Given the description of an element on the screen output the (x, y) to click on. 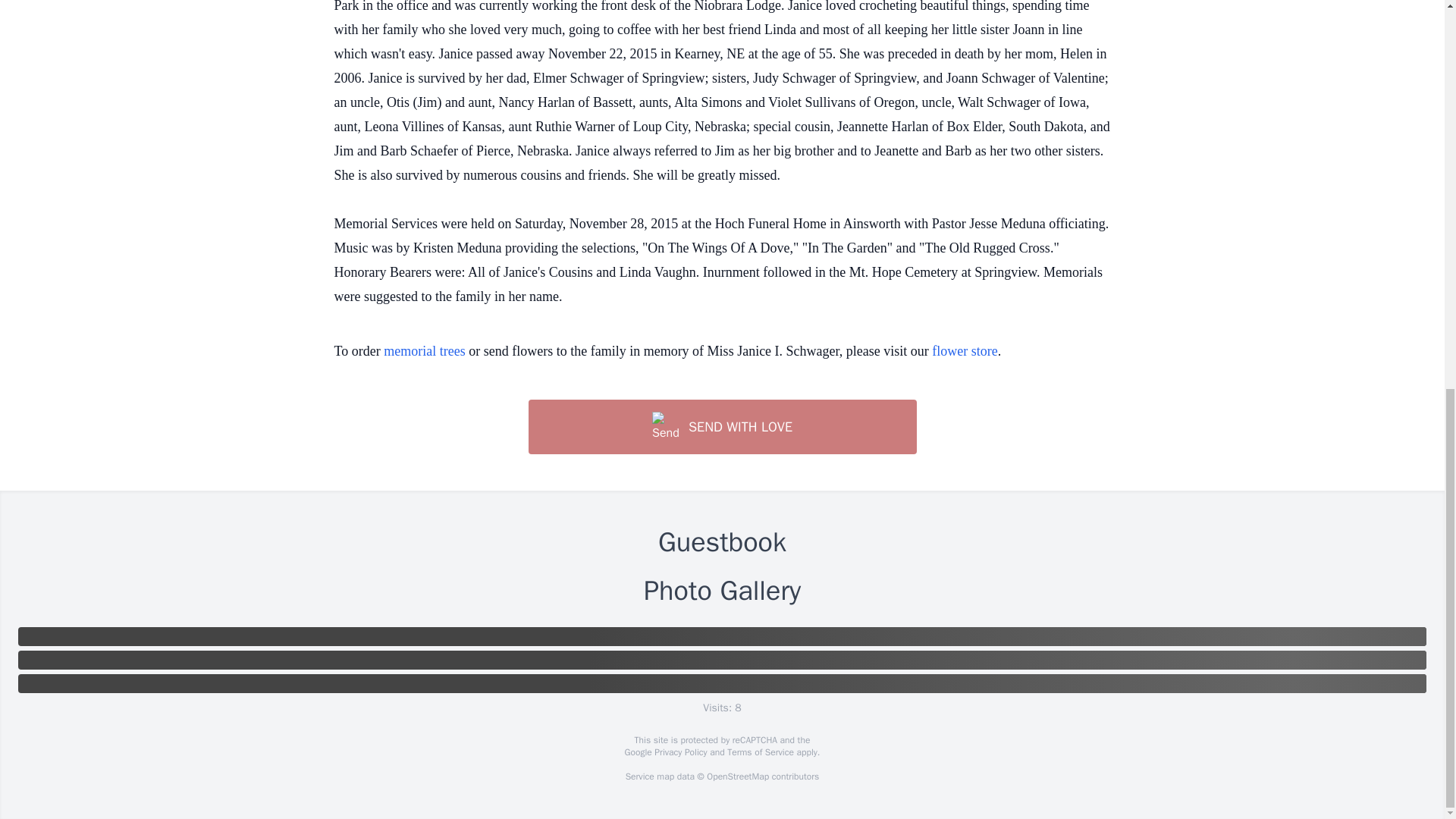
memorial trees (424, 350)
Privacy Policy (679, 752)
OpenStreetMap (737, 776)
Terms of Service (759, 752)
SEND WITH LOVE (721, 426)
flower store (964, 350)
